Given the description of an element on the screen output the (x, y) to click on. 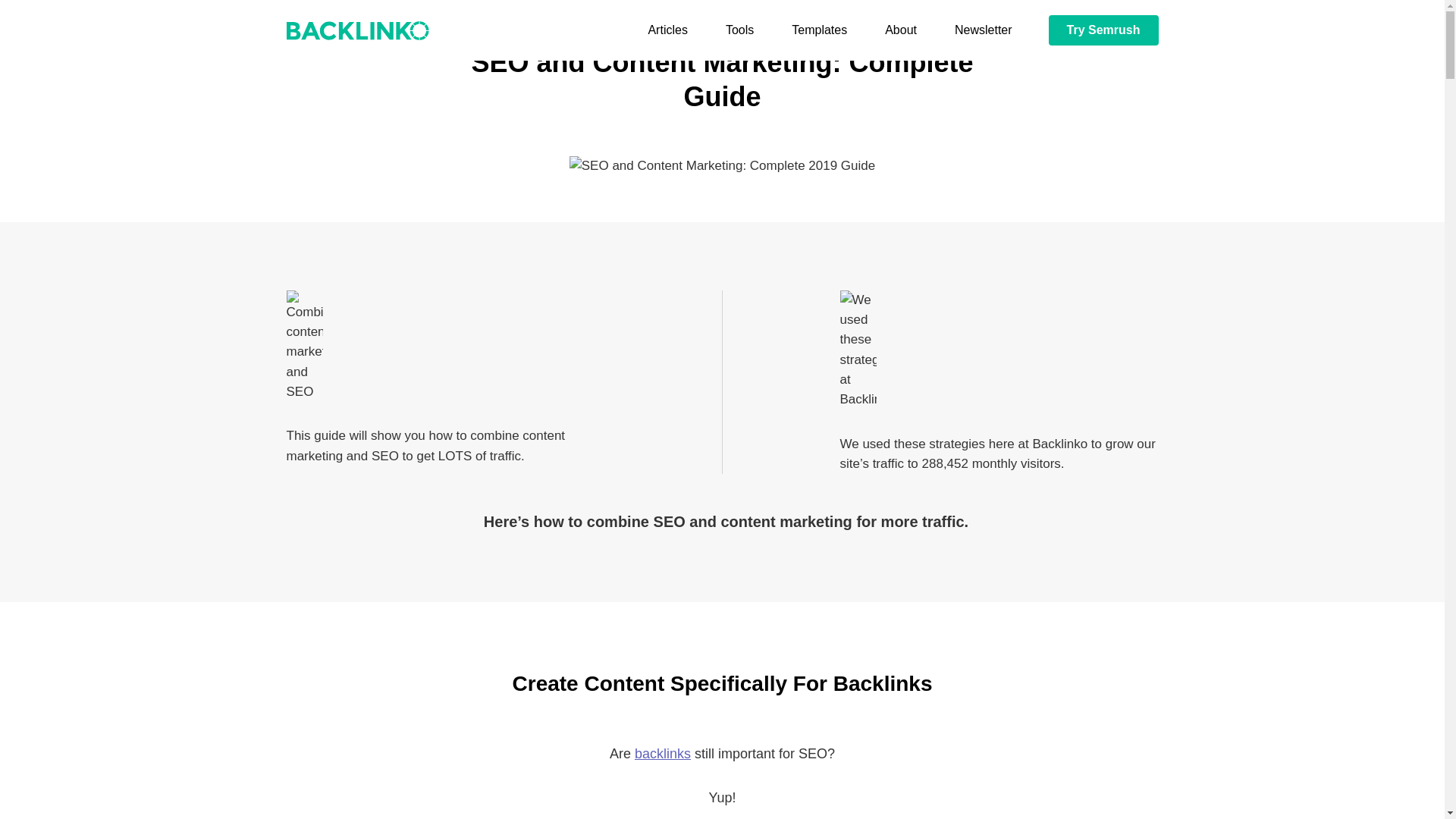
Backlinko (357, 30)
Articles (667, 30)
Backlinks (662, 753)
